Given the description of an element on the screen output the (x, y) to click on. 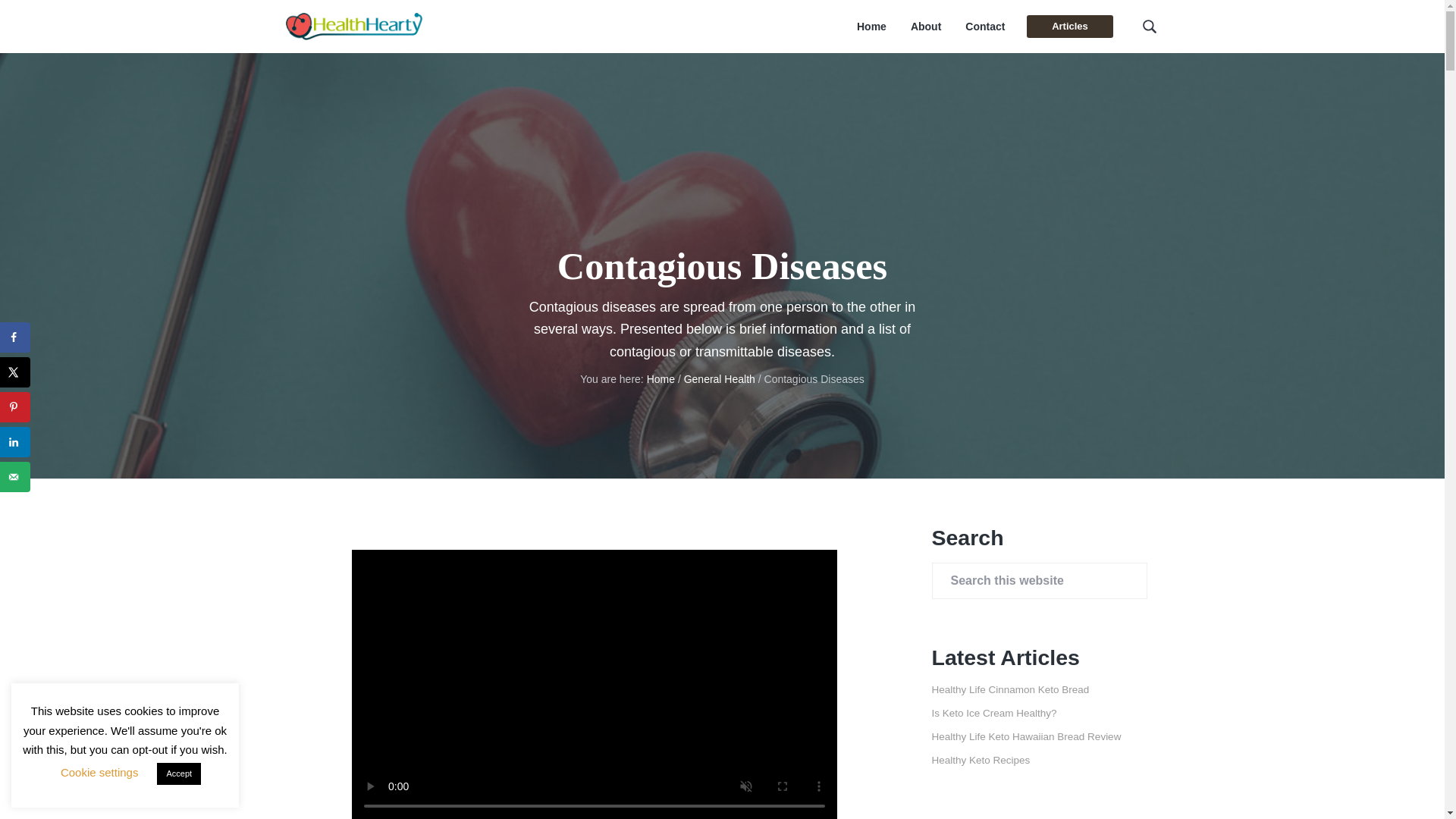
Is Keto Ice Cream Healthy? (994, 713)
Search (60, 18)
Home (660, 378)
Articles (1068, 25)
Healthy Keto Recipes (980, 759)
Contact (984, 27)
Healthy Life Keto Hawaiian Bread Review (1026, 736)
General Health (719, 378)
Healthy Life Cinnamon Keto Bread (1010, 689)
About (925, 27)
Home (871, 27)
